Given the description of an element on the screen output the (x, y) to click on. 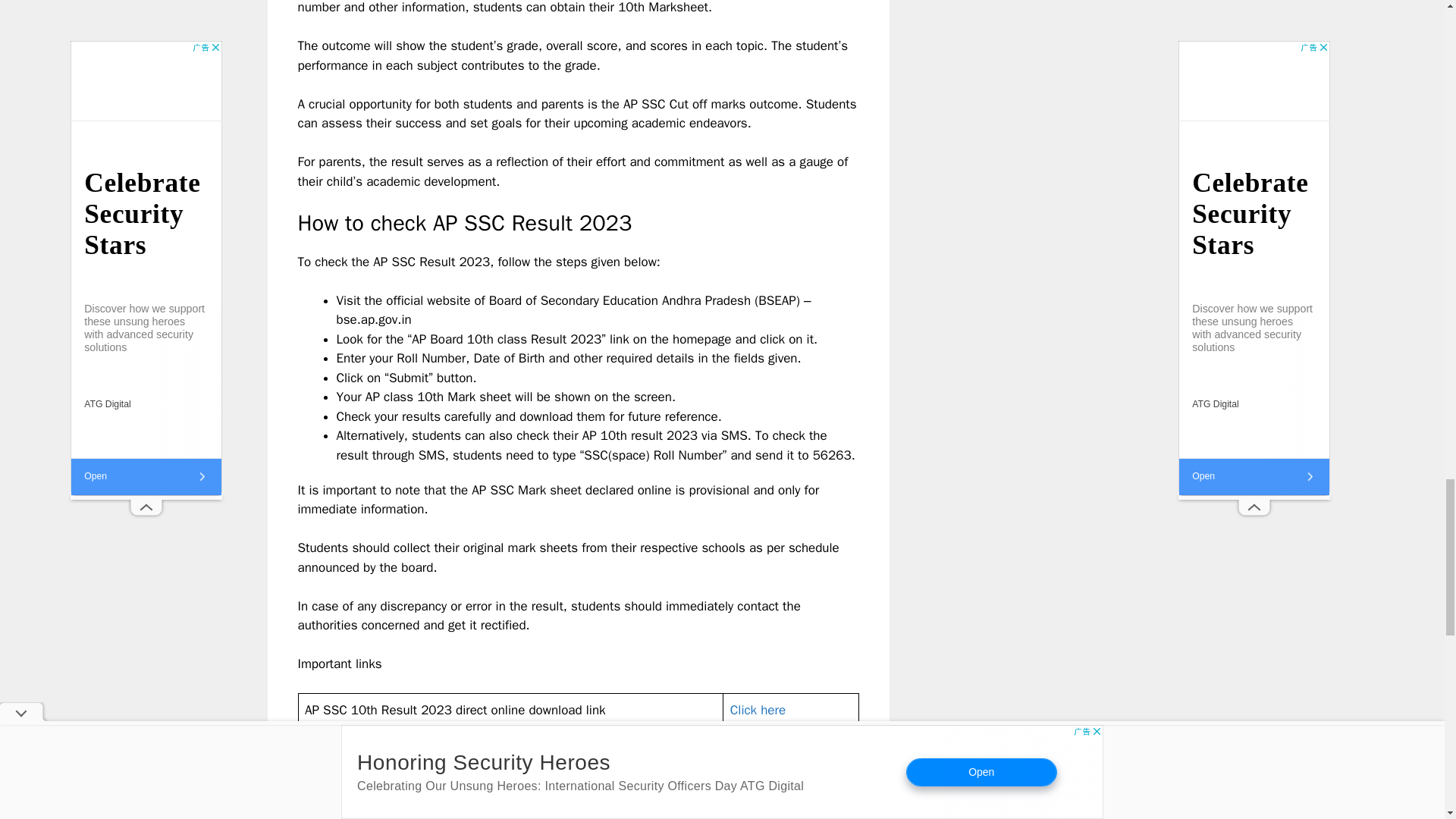
Click here (758, 709)
